Given the description of an element on the screen output the (x, y) to click on. 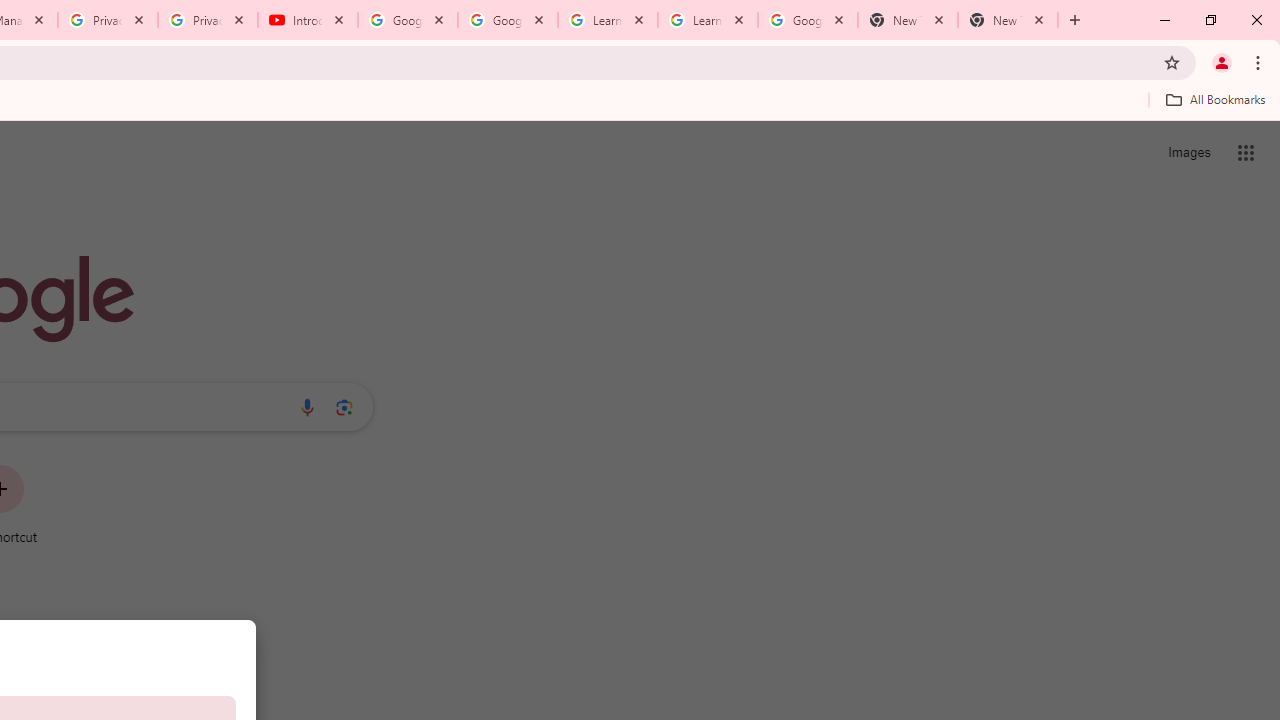
New Tab (1007, 20)
Google Account Help (408, 20)
All Bookmarks (1215, 99)
New Tab (907, 20)
Introduction | Google Privacy Policy - YouTube (308, 20)
Google Account (807, 20)
Google Account Help (508, 20)
